Given the description of an element on the screen output the (x, y) to click on. 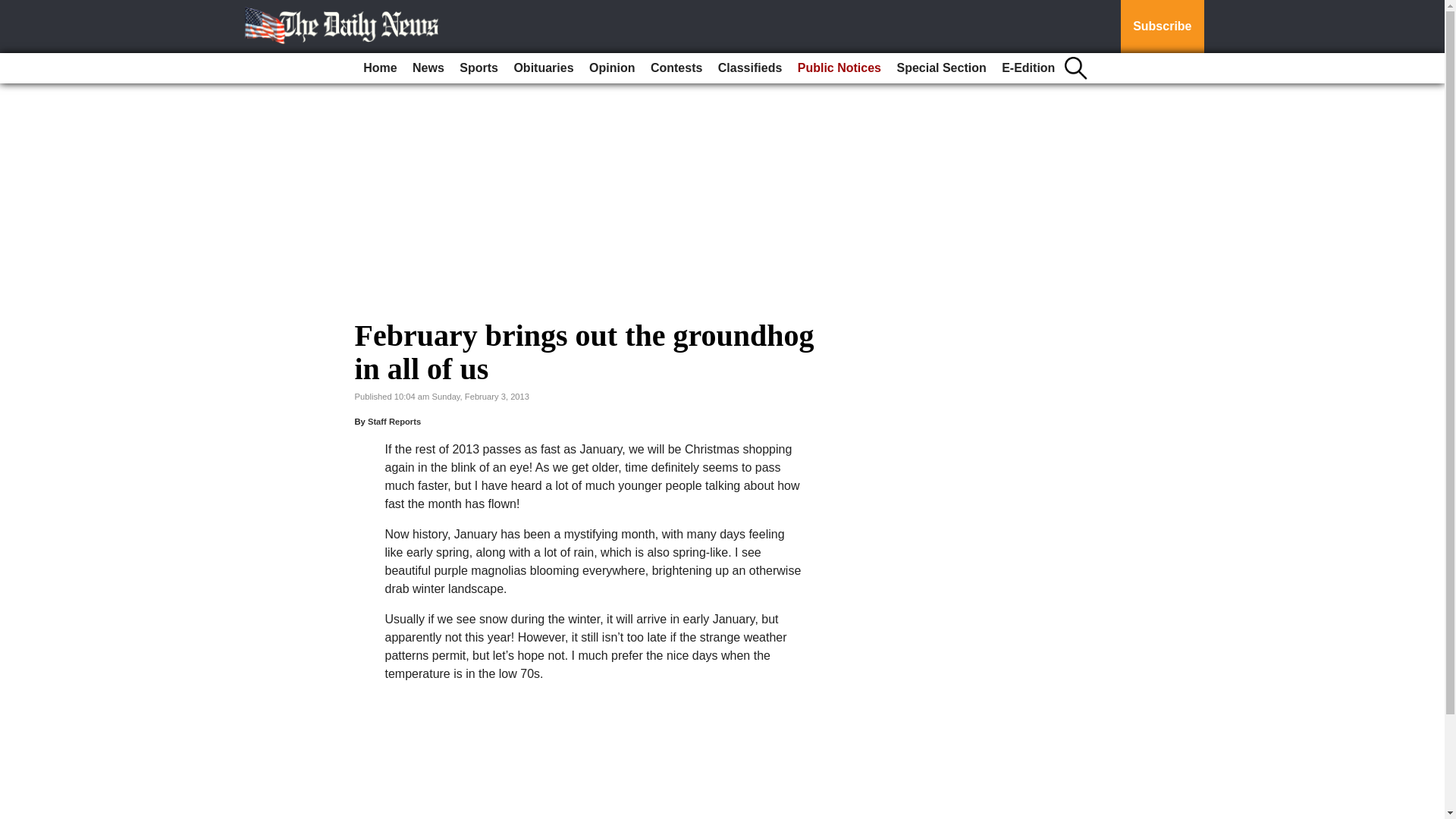
Contests (676, 68)
E-Edition (1028, 68)
Go (13, 9)
Classifieds (749, 68)
Obituaries (542, 68)
Home (379, 68)
Public Notices (839, 68)
Staff Reports (394, 420)
Special Section (940, 68)
News (427, 68)
